Given the description of an element on the screen output the (x, y) to click on. 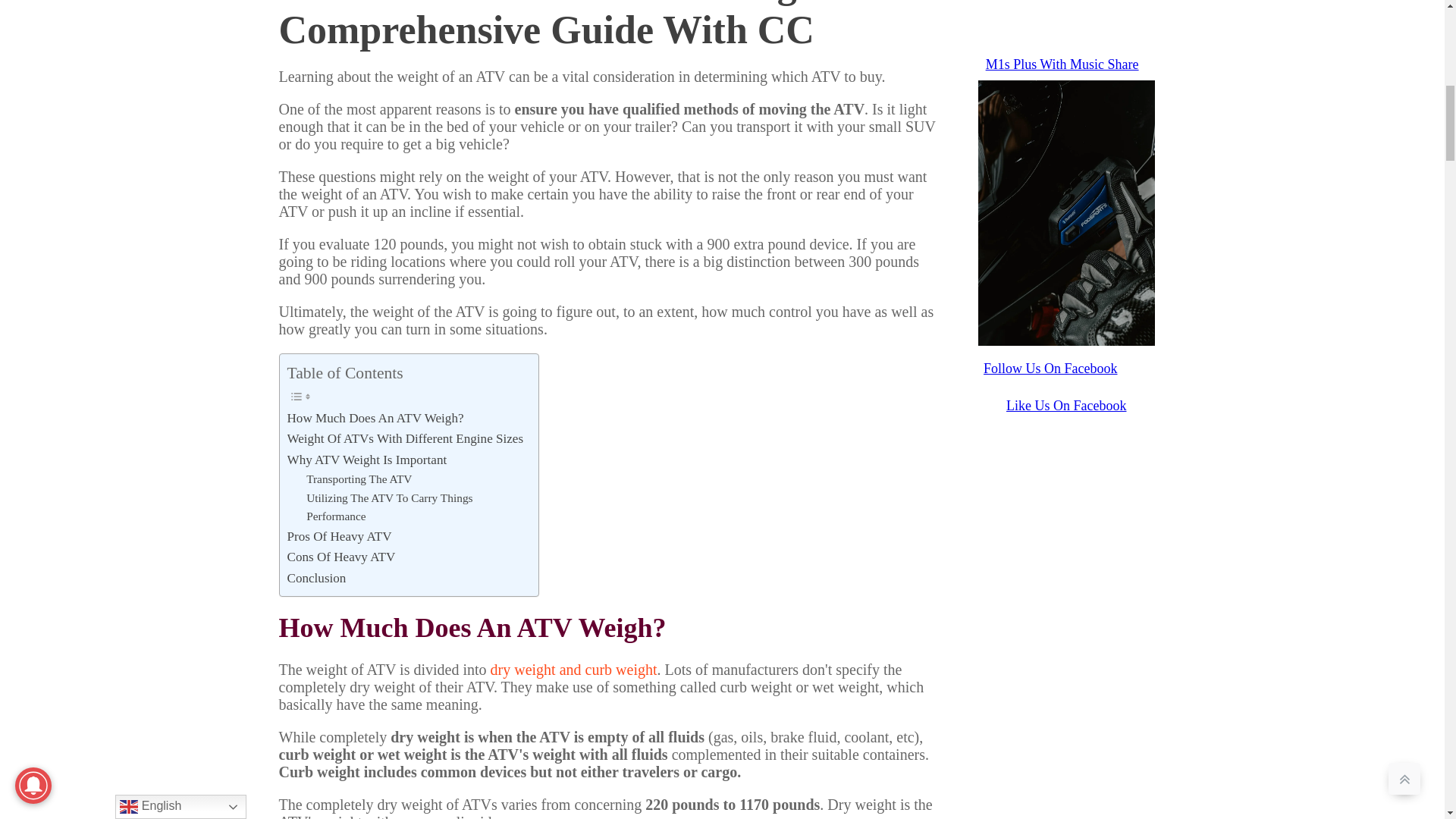
Weight Of ATVs With Different Engine Sizes (404, 438)
Utilizing The ATV To Carry Things (388, 497)
Conclusion (316, 578)
Performance (335, 516)
Weight Of ATVs With Different Engine Sizes (404, 438)
How Much Does An ATV Weigh? (374, 417)
Transporting The ATV (358, 479)
Cons Of Heavy ATV (340, 557)
Why ATV Weight Is Important (366, 459)
How Much Does An ATV Weigh? (374, 417)
Pros Of Heavy ATV (338, 536)
